Given the description of an element on the screen output the (x, y) to click on. 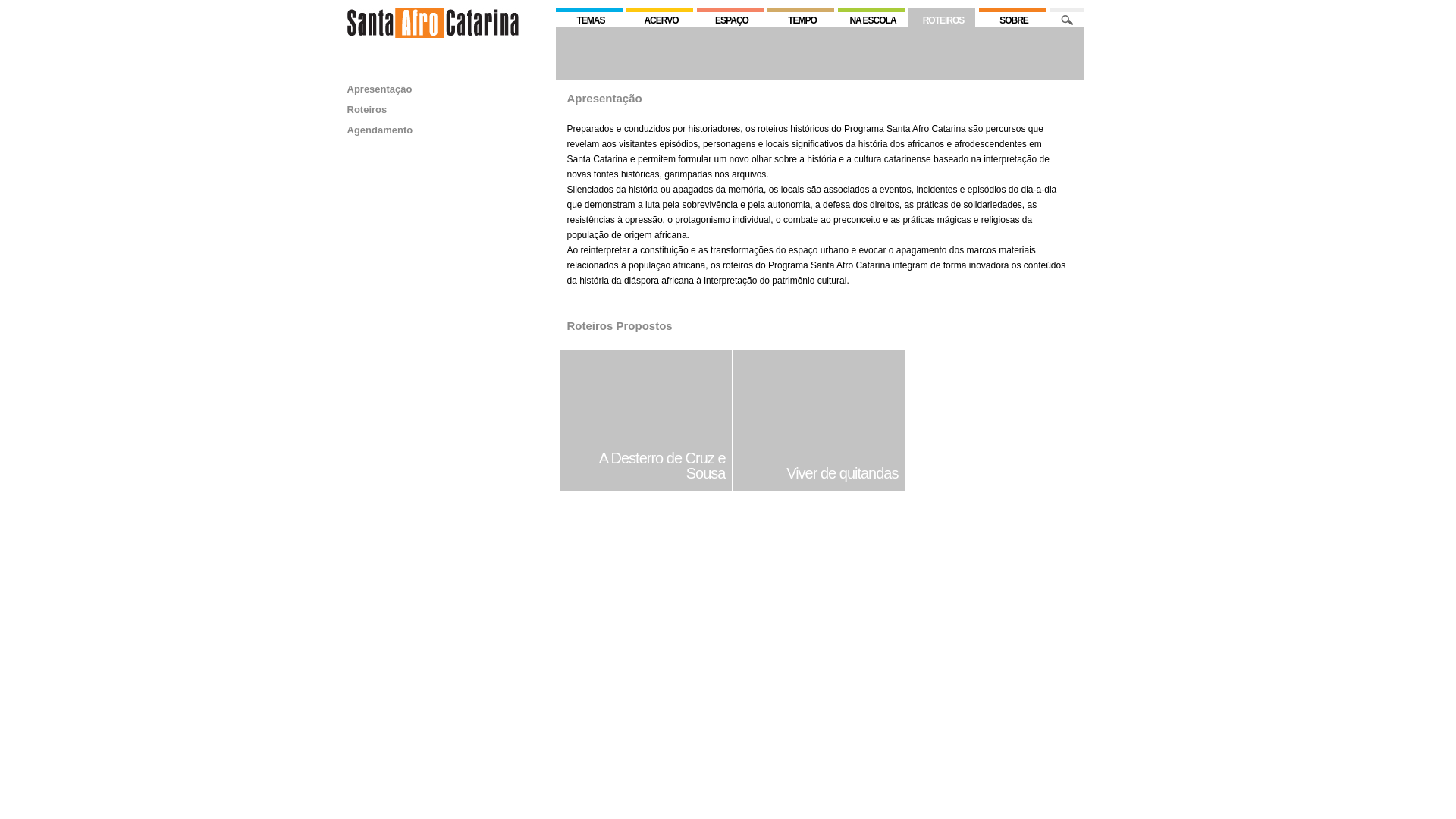
NA ESCOLA Element type: text (870, 9)
ROTEIROS Element type: text (941, 19)
Viver de quitandas Element type: text (822, 472)
TEMAS Element type: text (588, 9)
SOBRE Element type: text (1011, 9)
A Desterro de Cruz e Sousa Element type: text (649, 465)
Roteiros Element type: text (367, 109)
ACERVO Element type: text (659, 9)
TEMPO Element type: text (800, 9)
Agendamento Element type: text (380, 129)
